Given the description of an element on the screen output the (x, y) to click on. 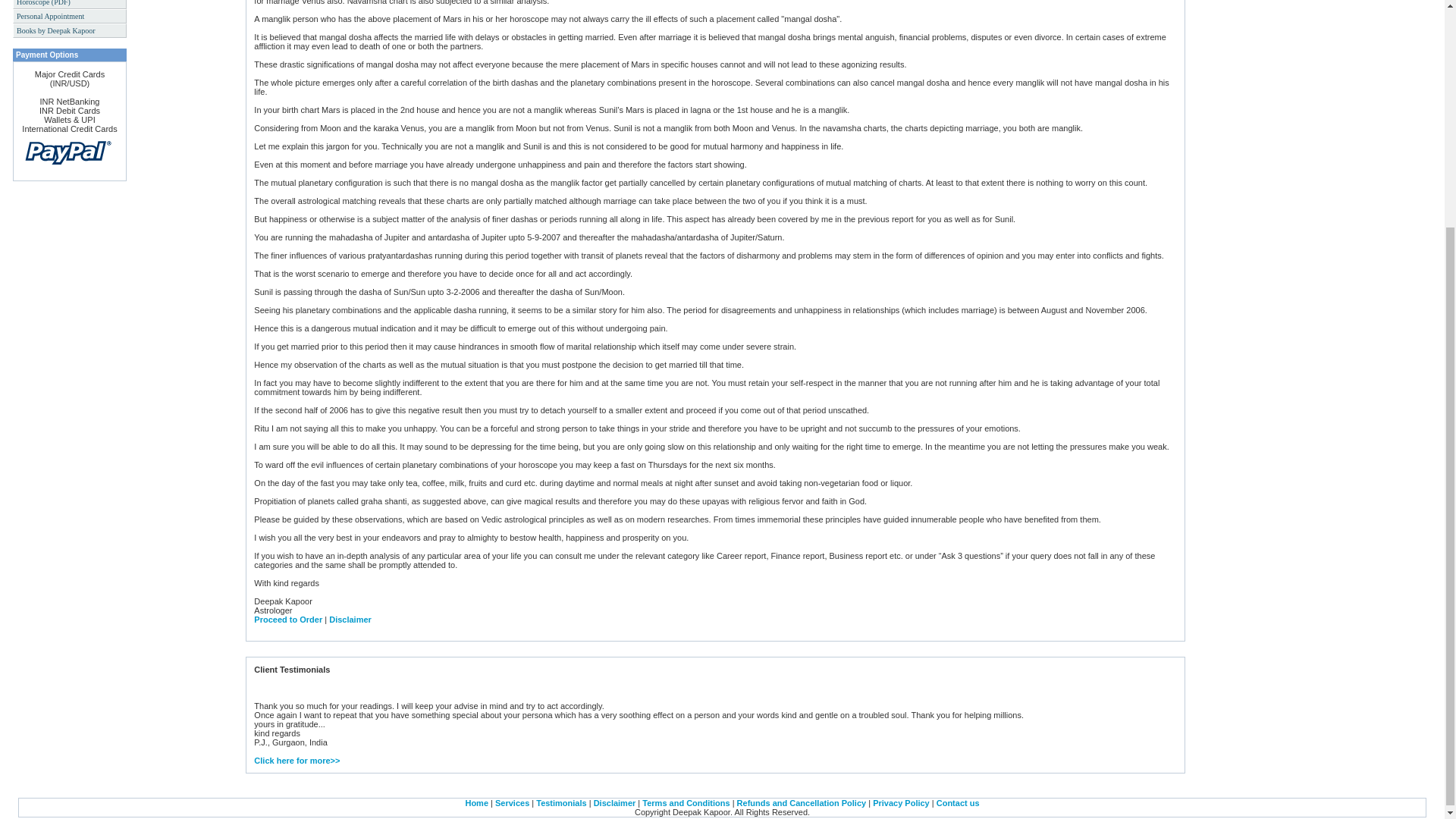
Proceed to Order (287, 619)
Privacy Policy (901, 802)
Disclaimer (615, 802)
Services (512, 802)
Home (475, 802)
Books by Deepak Kapoor (69, 30)
Refunds and Cancellation Policy (801, 802)
Testimonials (560, 802)
Terms and Conditions (685, 802)
Disclaimer (350, 619)
Personal Appointment (69, 16)
